Given the description of an element on the screen output the (x, y) to click on. 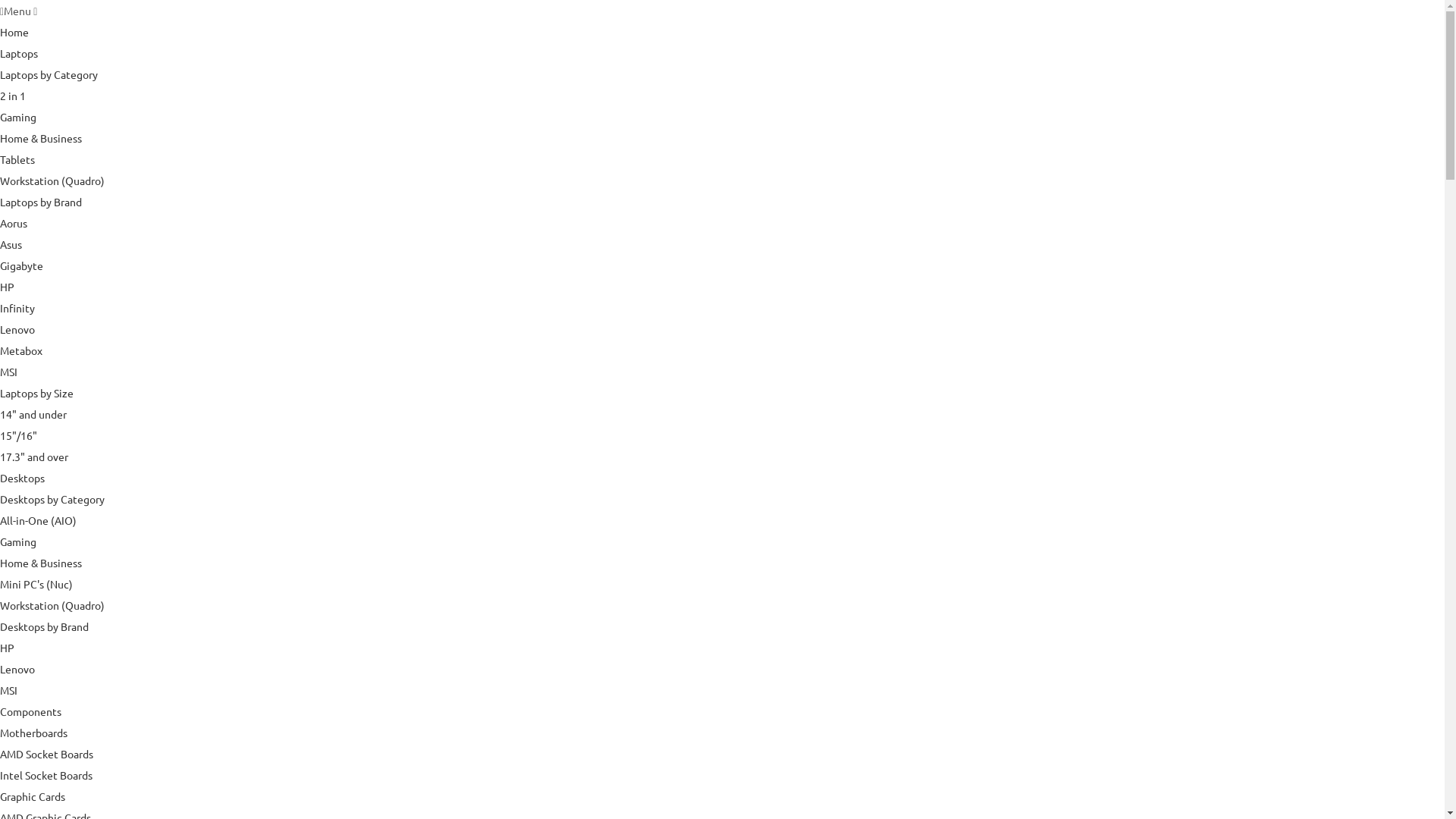
MSI Element type: text (8, 371)
Graphic Cards Element type: text (32, 796)
Workstation (Quadro) Element type: text (52, 604)
Home & Business Element type: text (40, 137)
HP Element type: text (7, 286)
Gaming Element type: text (18, 116)
Home Element type: text (14, 31)
Home & Business Element type: text (40, 562)
Desktops by Category Element type: text (52, 498)
All-in-One (AIO) Element type: text (38, 520)
15"/16" Element type: text (18, 435)
HP Element type: text (7, 647)
Mini PC's (Nuc) Element type: text (36, 583)
MSI Element type: text (8, 689)
Laptops Element type: text (18, 52)
Components Element type: text (30, 711)
Infinity Element type: text (17, 307)
Lenovo Element type: text (17, 668)
14" and under Element type: text (33, 413)
Gaming Element type: text (18, 541)
Desktops by Brand Element type: text (44, 626)
AMD Socket Boards Element type: text (46, 753)
Metabox Element type: text (21, 350)
Laptops by Brand Element type: text (40, 201)
Intel Socket Boards Element type: text (46, 774)
Gigabyte Element type: text (21, 265)
Laptops by Category Element type: text (48, 74)
Motherboards Element type: text (33, 732)
Workstation (Quadro) Element type: text (52, 180)
Desktops Element type: text (22, 477)
17.3" and over Element type: text (34, 456)
Lenovo Element type: text (17, 328)
Laptops by Size Element type: text (36, 392)
Aorus Element type: text (13, 222)
2 in 1 Element type: text (12, 95)
Asus Element type: text (10, 244)
Tablets Element type: text (17, 159)
